Given the description of an element on the screen output the (x, y) to click on. 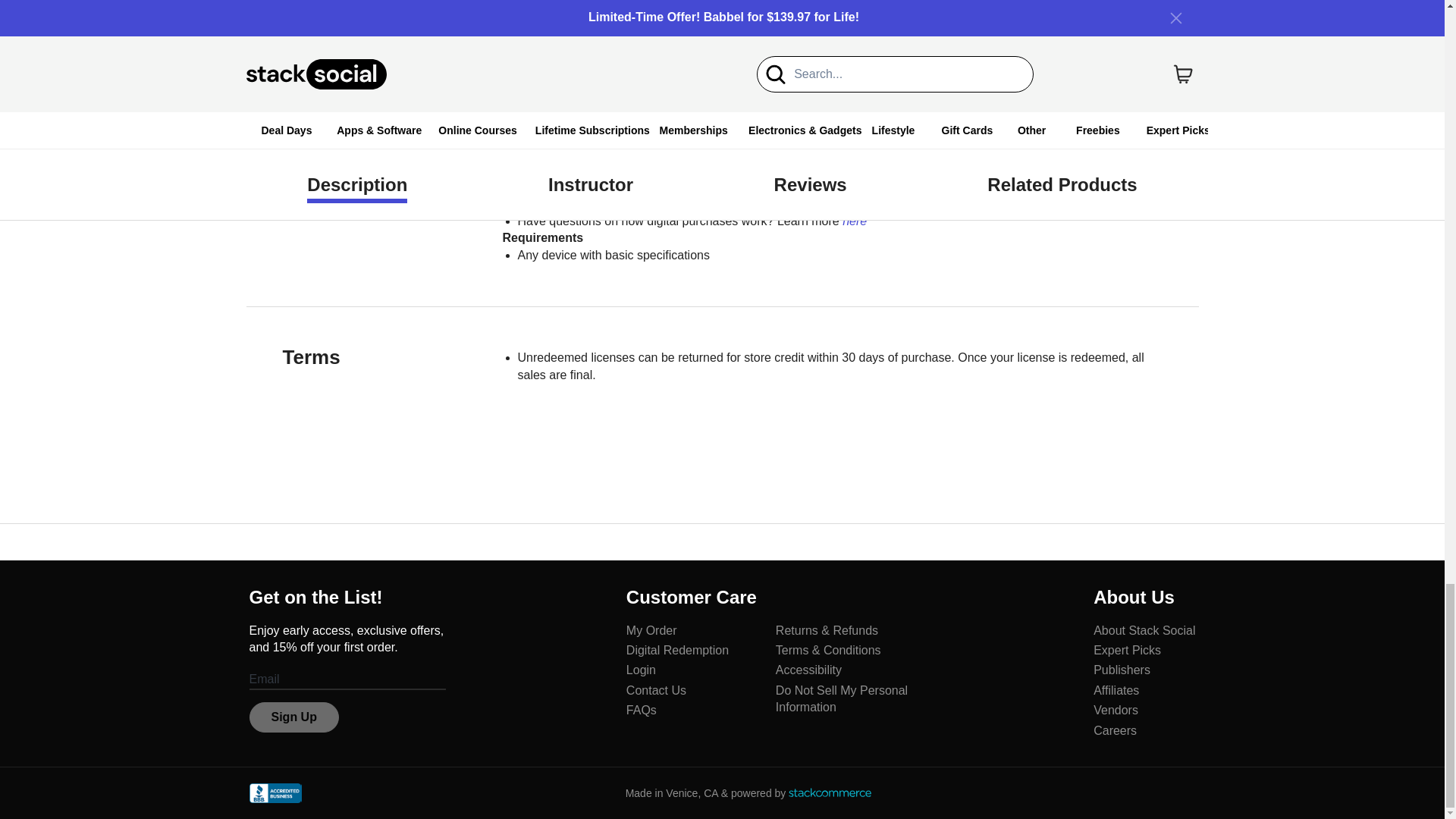
StackCommerce (829, 792)
